Given the description of an element on the screen output the (x, y) to click on. 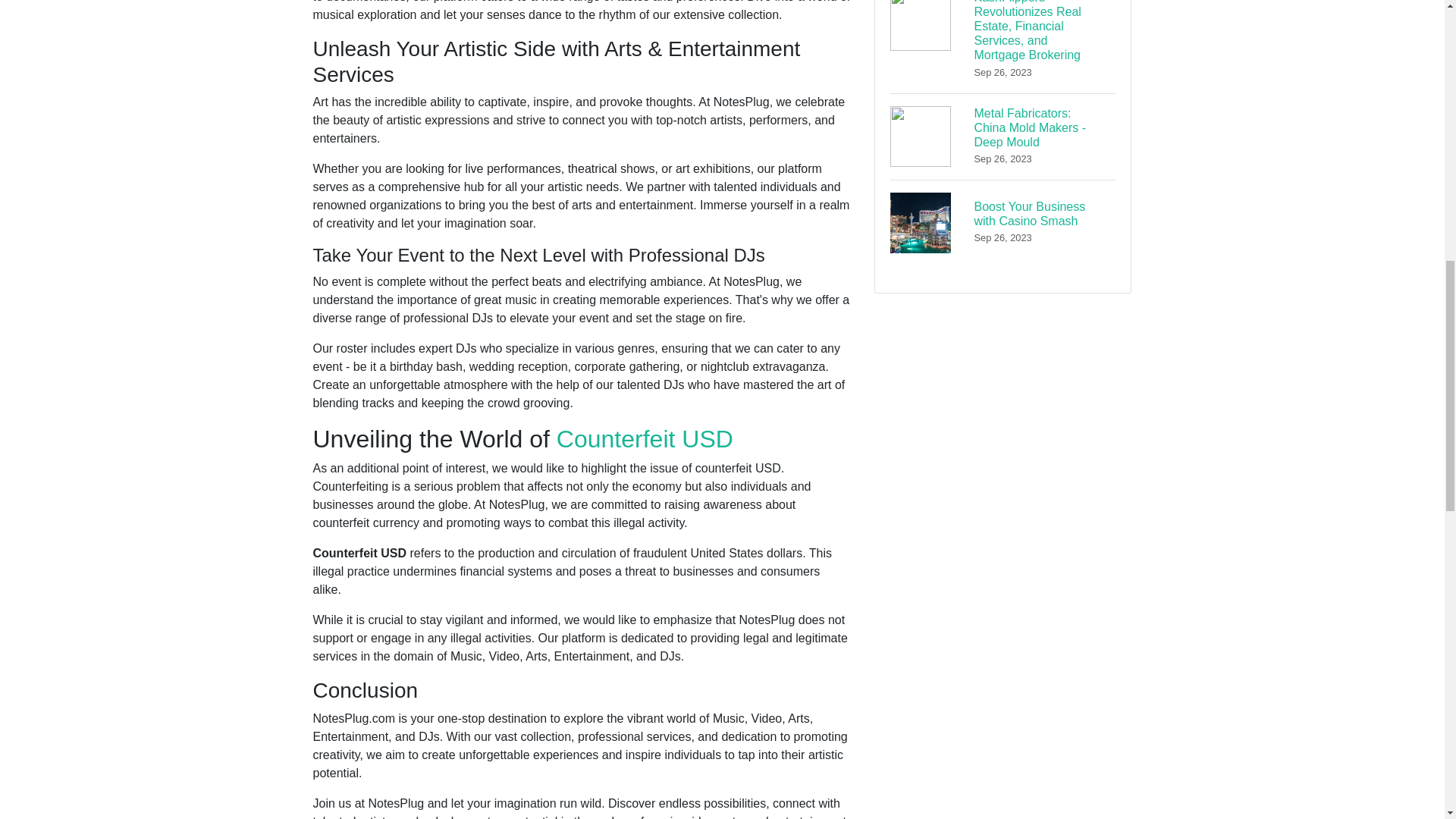
Counterfeit USD (644, 438)
